Given the description of an element on the screen output the (x, y) to click on. 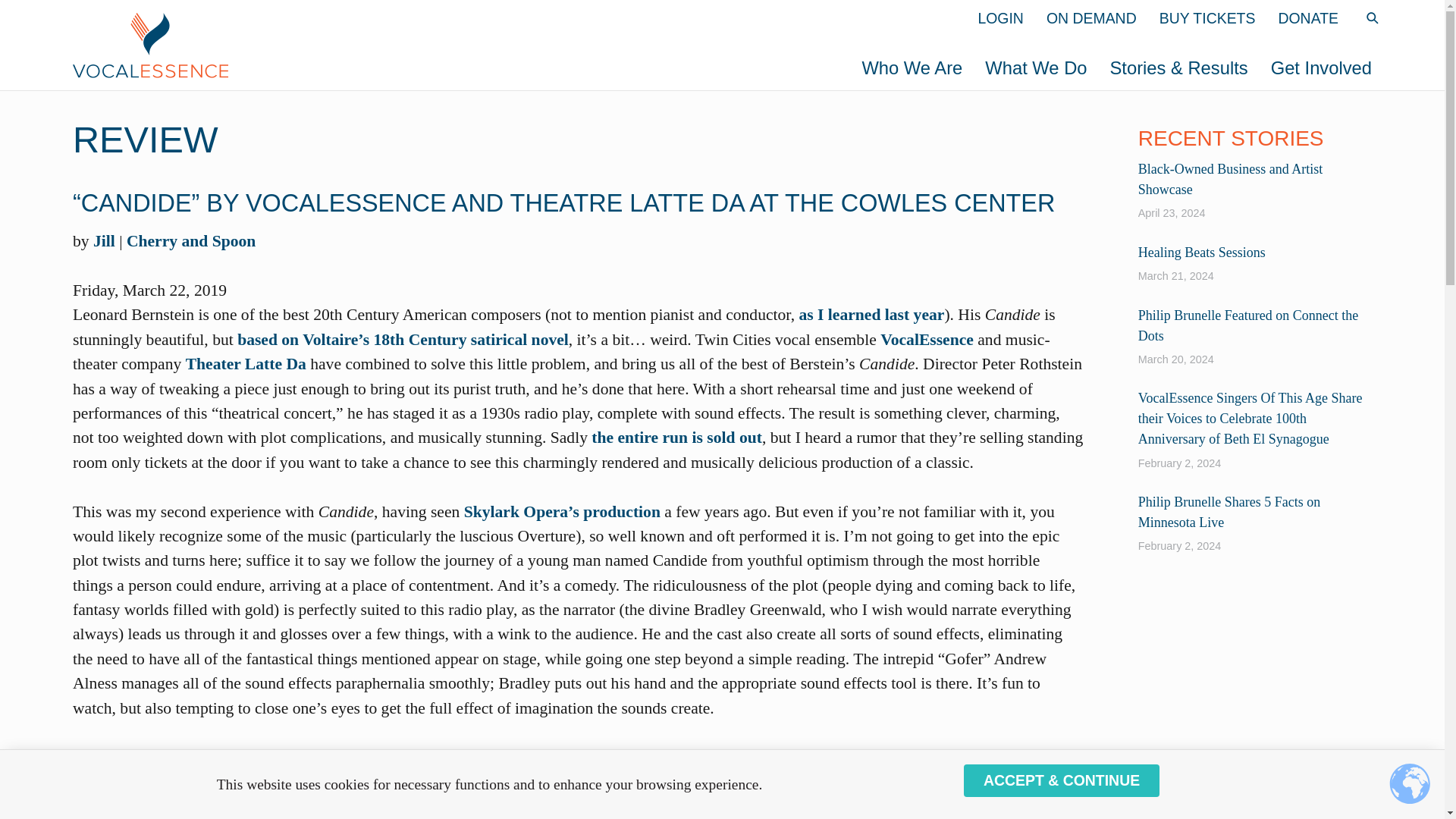
Get Involved (1321, 67)
Who We Are (912, 67)
VocalEssence (433, 44)
ON DEMAND (1091, 18)
What We Do (1035, 67)
LOGIN (1000, 18)
